Given the description of an element on the screen output the (x, y) to click on. 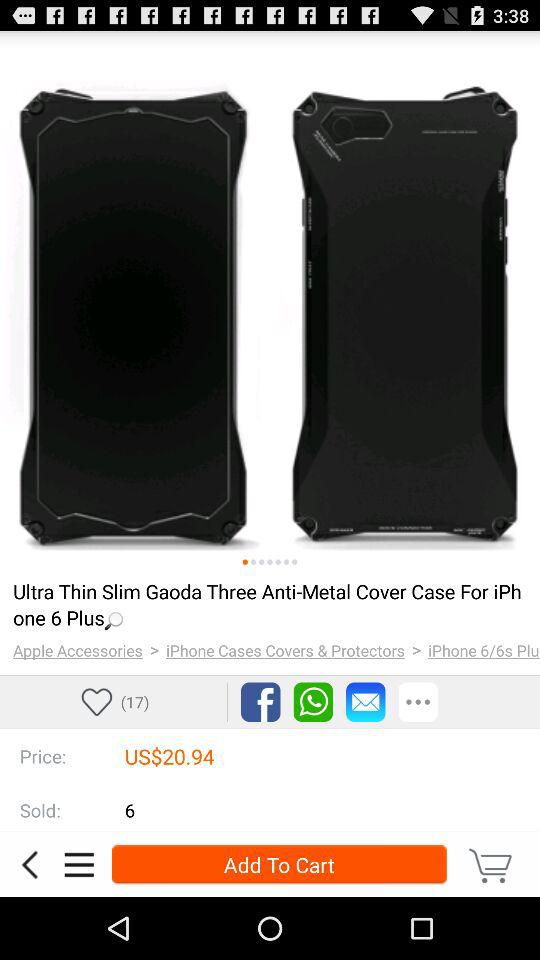
enlarge image (270, 301)
